Given the description of an element on the screen output the (x, y) to click on. 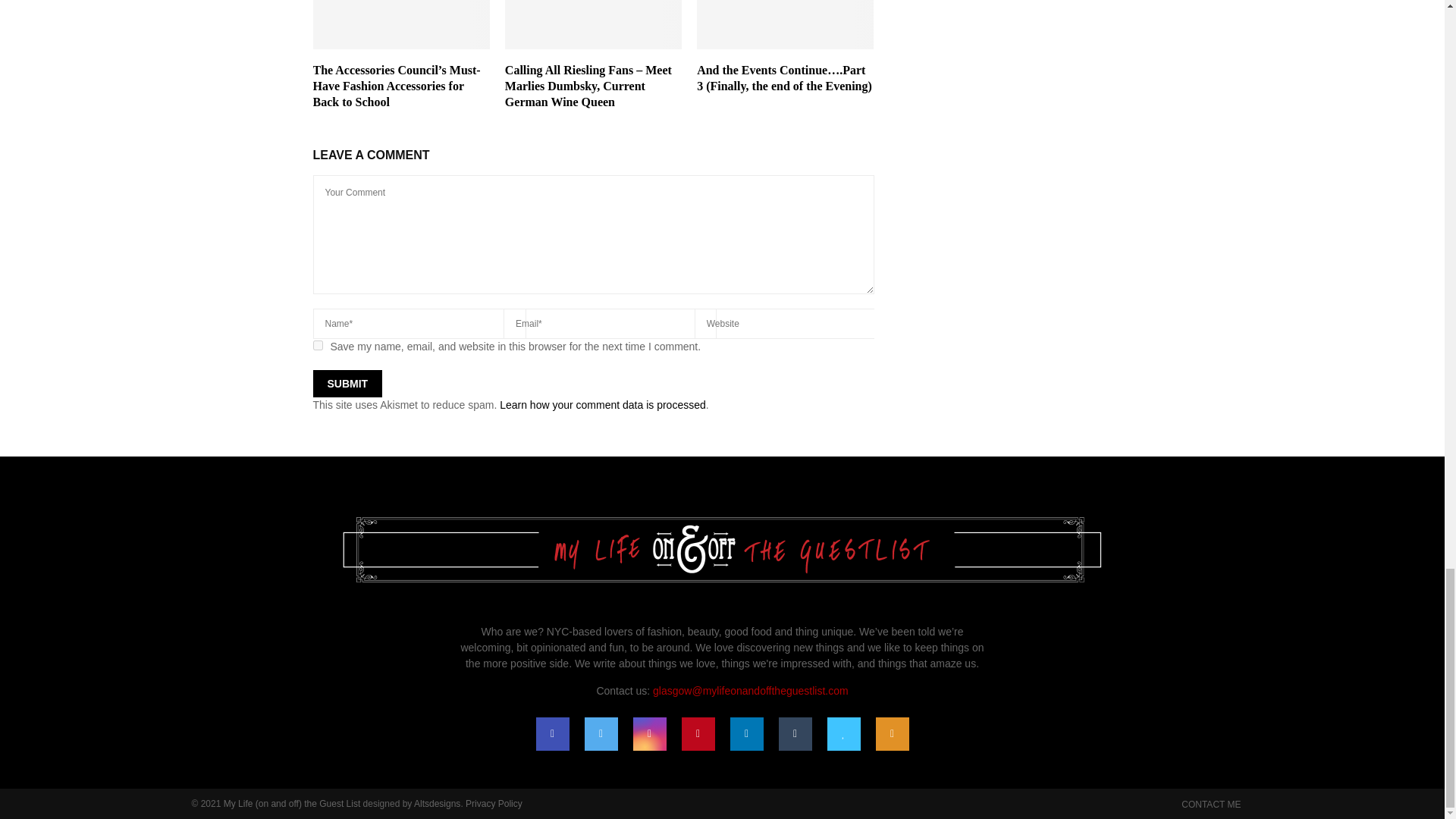
Submit (347, 383)
yes (317, 345)
